Given the description of an element on the screen output the (x, y) to click on. 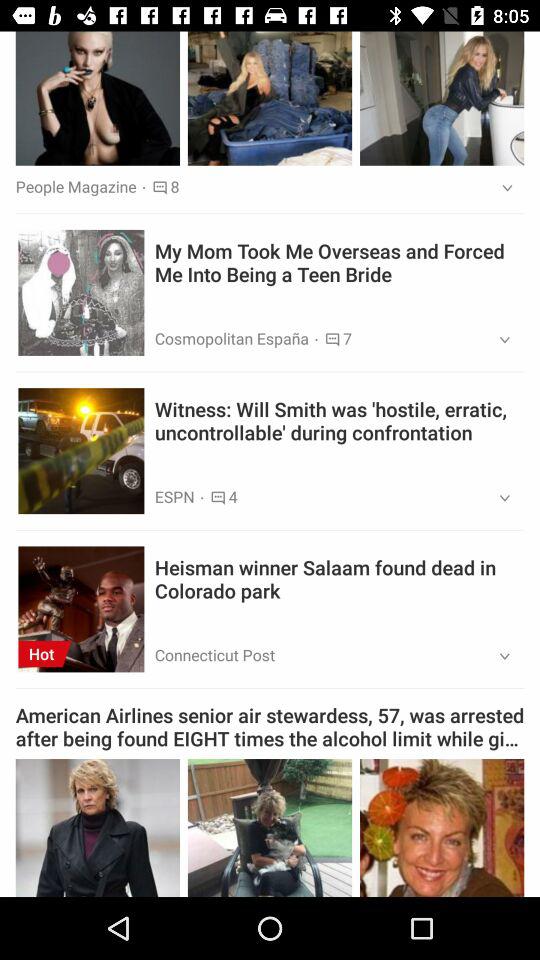
choose the icon to the right of connecticut post item (498, 656)
